Given the description of an element on the screen output the (x, y) to click on. 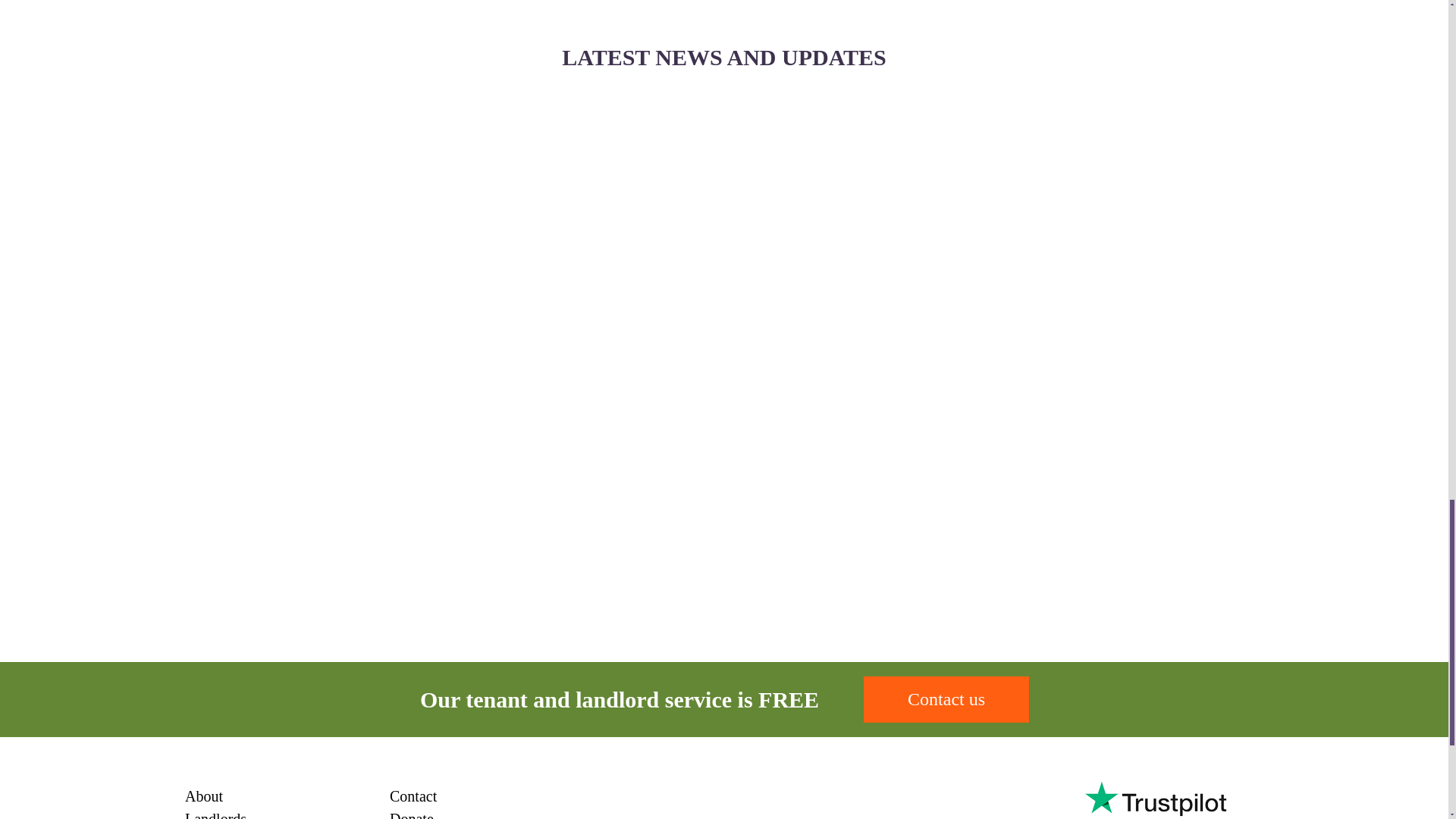
About (203, 795)
Contact (413, 795)
Landlords (215, 814)
Donate (411, 814)
Contact us (945, 699)
